Given the description of an element on the screen output the (x, y) to click on. 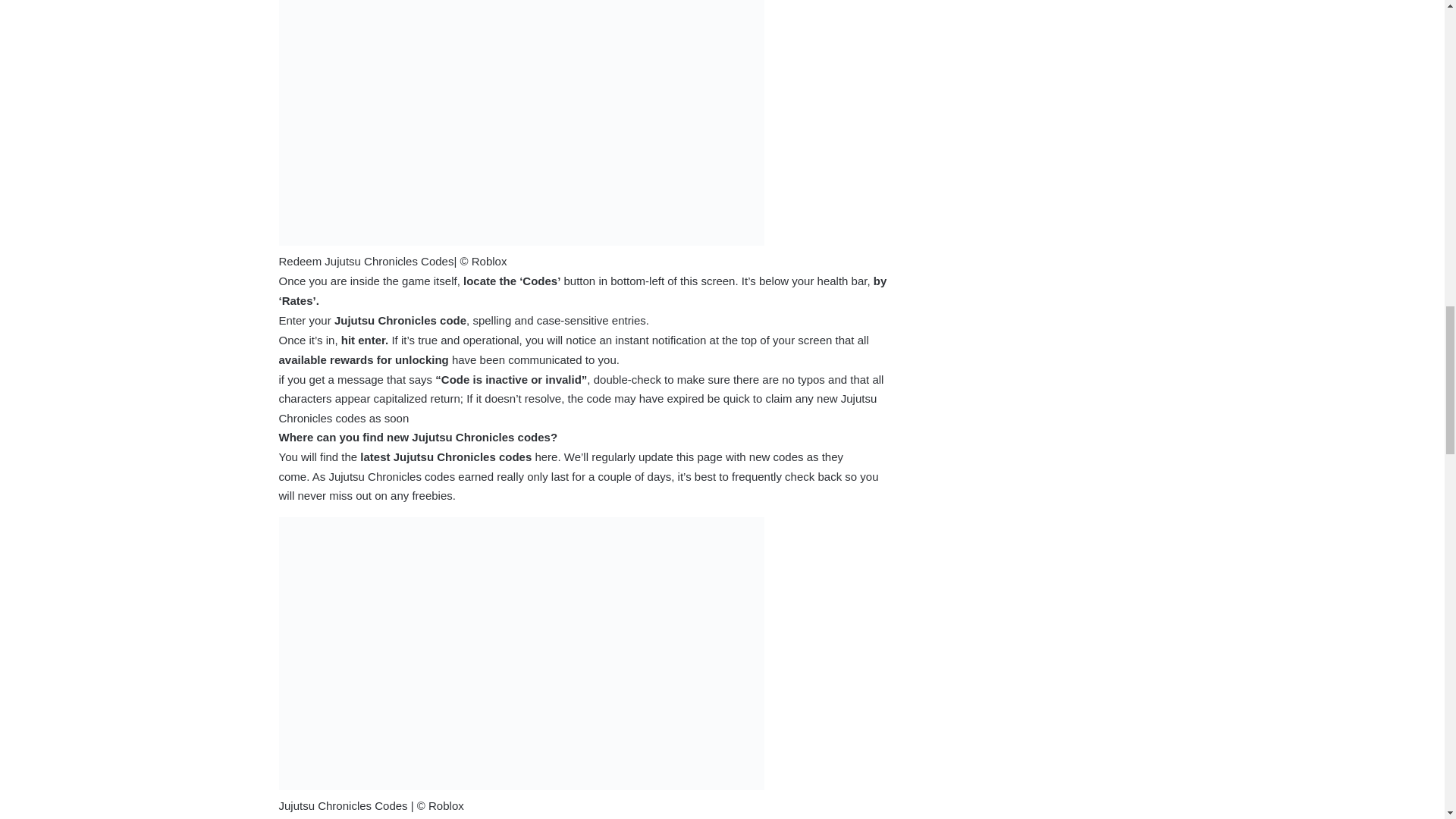
Jujutsu Chronicles Codes For July 2024 (521, 653)
Jujutsu Chronicles Codes For July 2024 (521, 122)
